Given the description of an element on the screen output the (x, y) to click on. 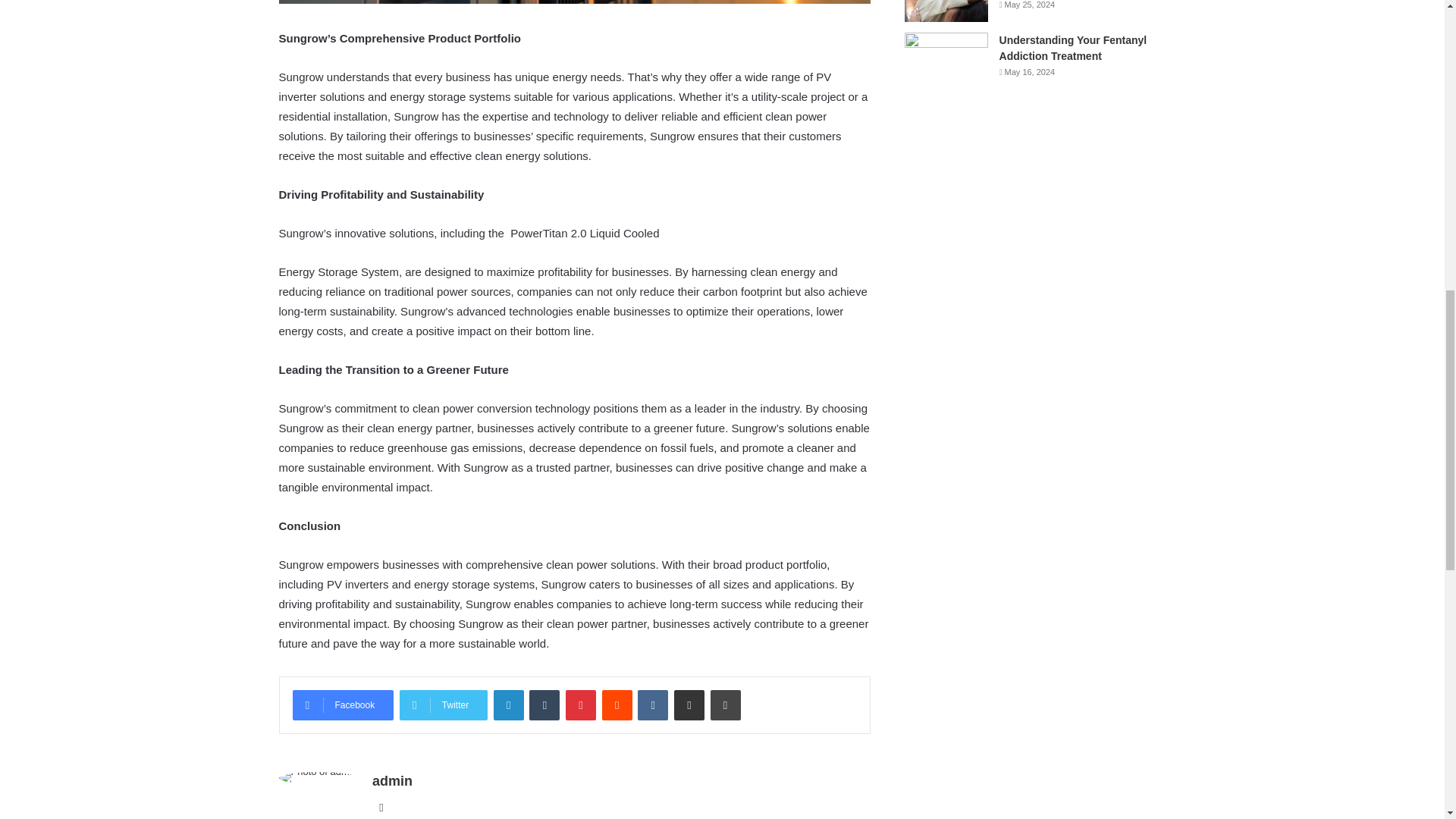
Facebook (343, 705)
VKontakte (652, 705)
Twitter (442, 705)
Reddit (616, 705)
Facebook (343, 705)
Reddit (616, 705)
Print (725, 705)
Share via Email (689, 705)
Share via Email (689, 705)
Tumblr (544, 705)
